Given the description of an element on the screen output the (x, y) to click on. 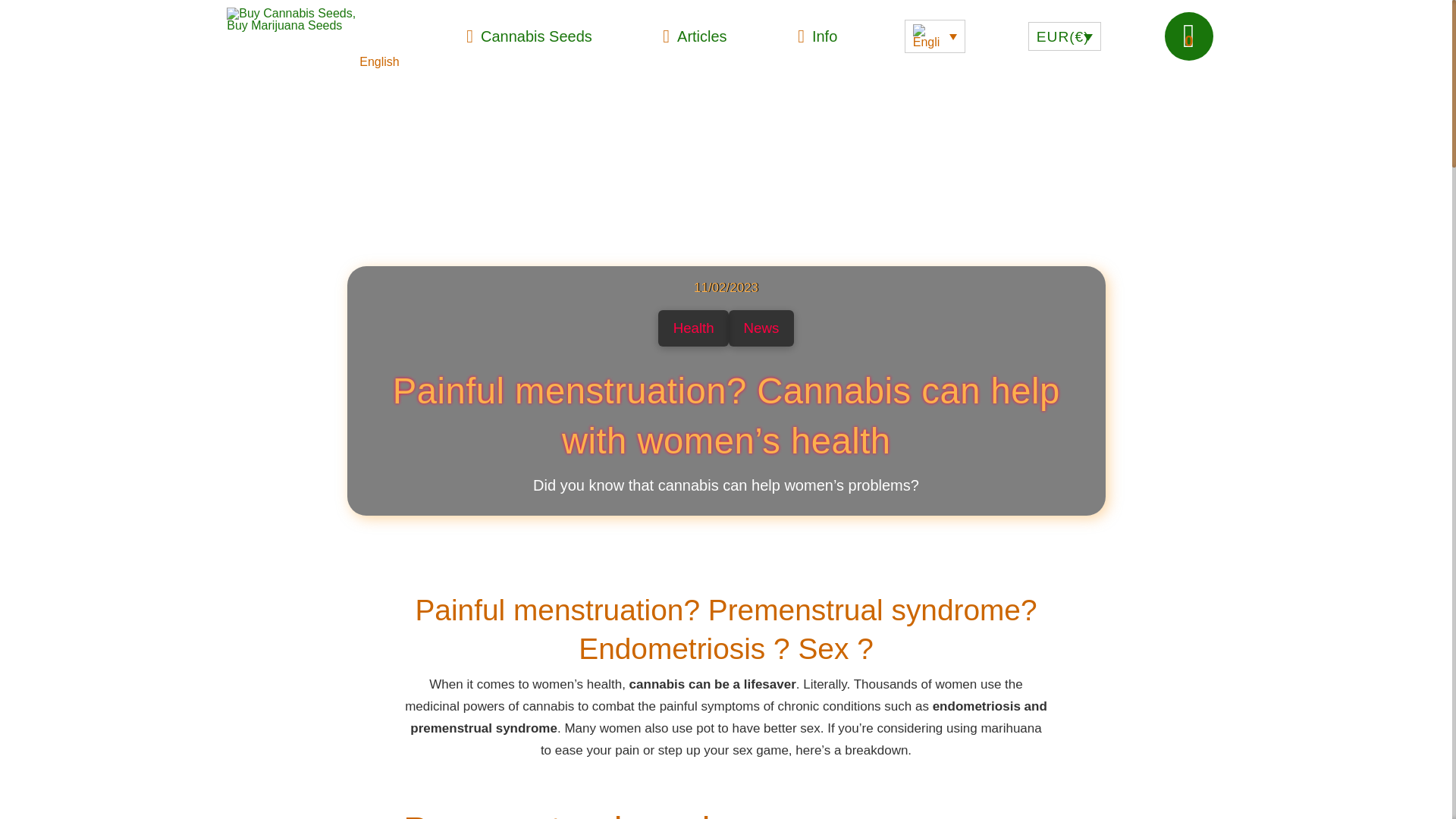
English (312, 54)
Health (693, 328)
News (761, 328)
